Given the description of an element on the screen output the (x, y) to click on. 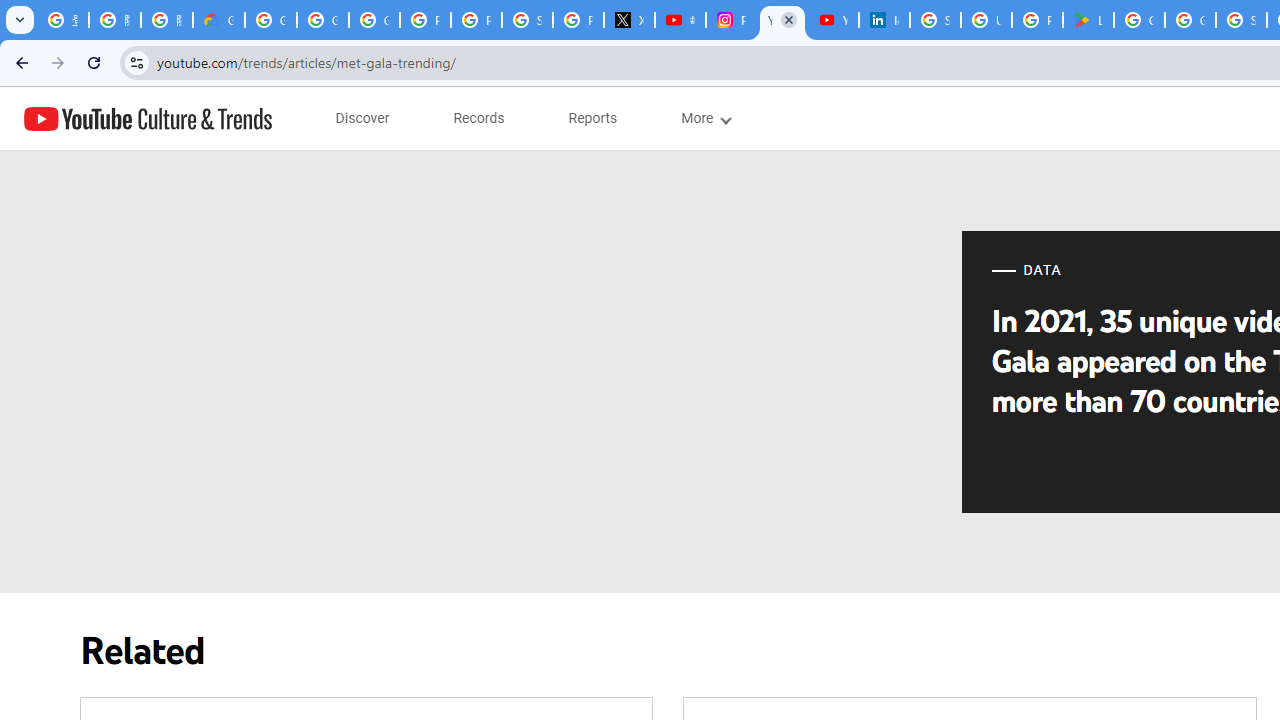
Sign in - Google Accounts (526, 20)
X (629, 20)
subnav-Discover menupopup (362, 118)
subnav-Reports menupopup (593, 118)
Google Workspace - Specific Terms (1189, 20)
#nbabasketballhighlights - YouTube (680, 20)
subnav-Reports menupopup (593, 118)
